Given the description of an element on the screen output the (x, y) to click on. 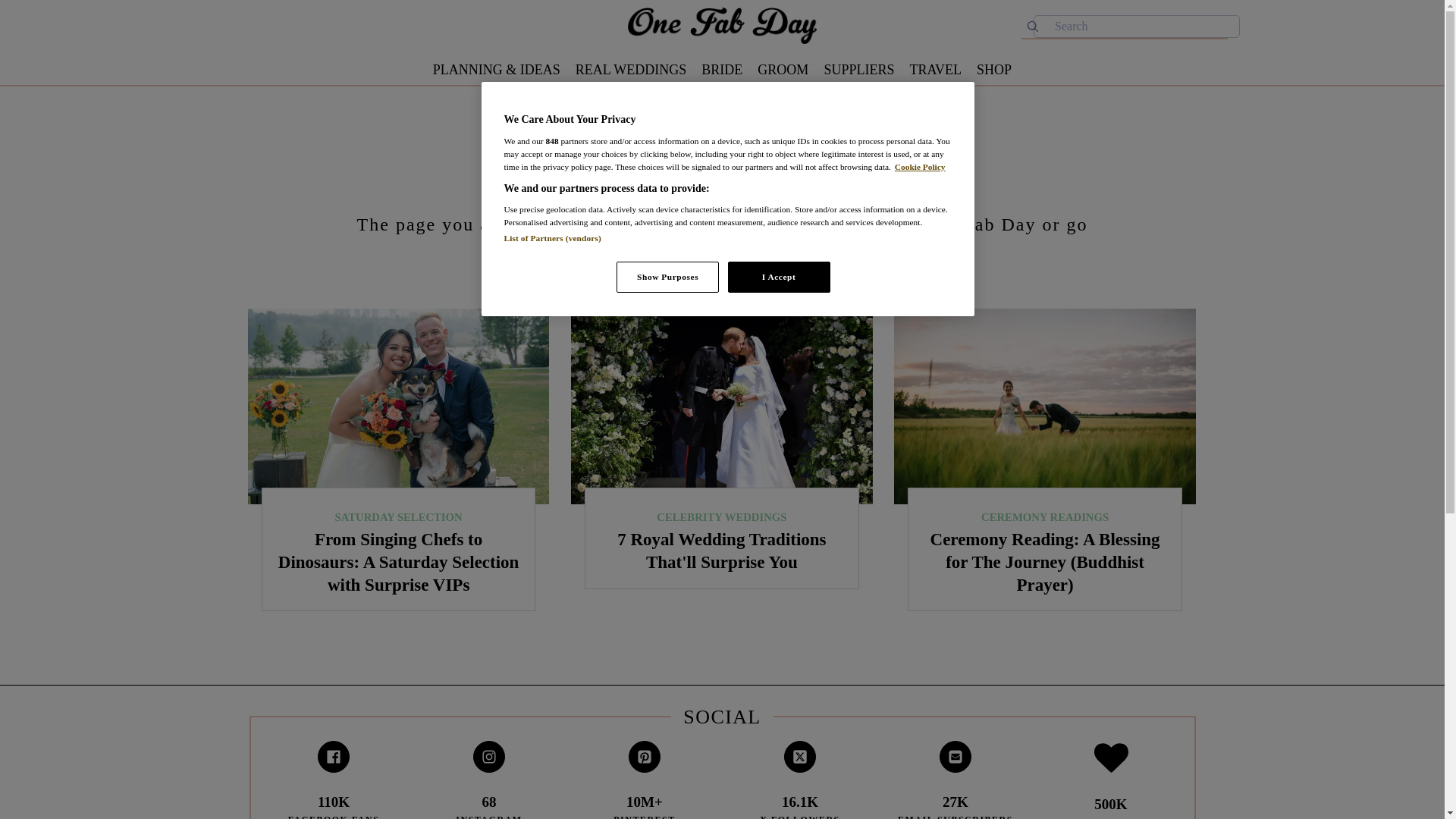
REAL WEDDINGS (630, 70)
Submit the search query (1033, 26)
